Given the description of an element on the screen output the (x, y) to click on. 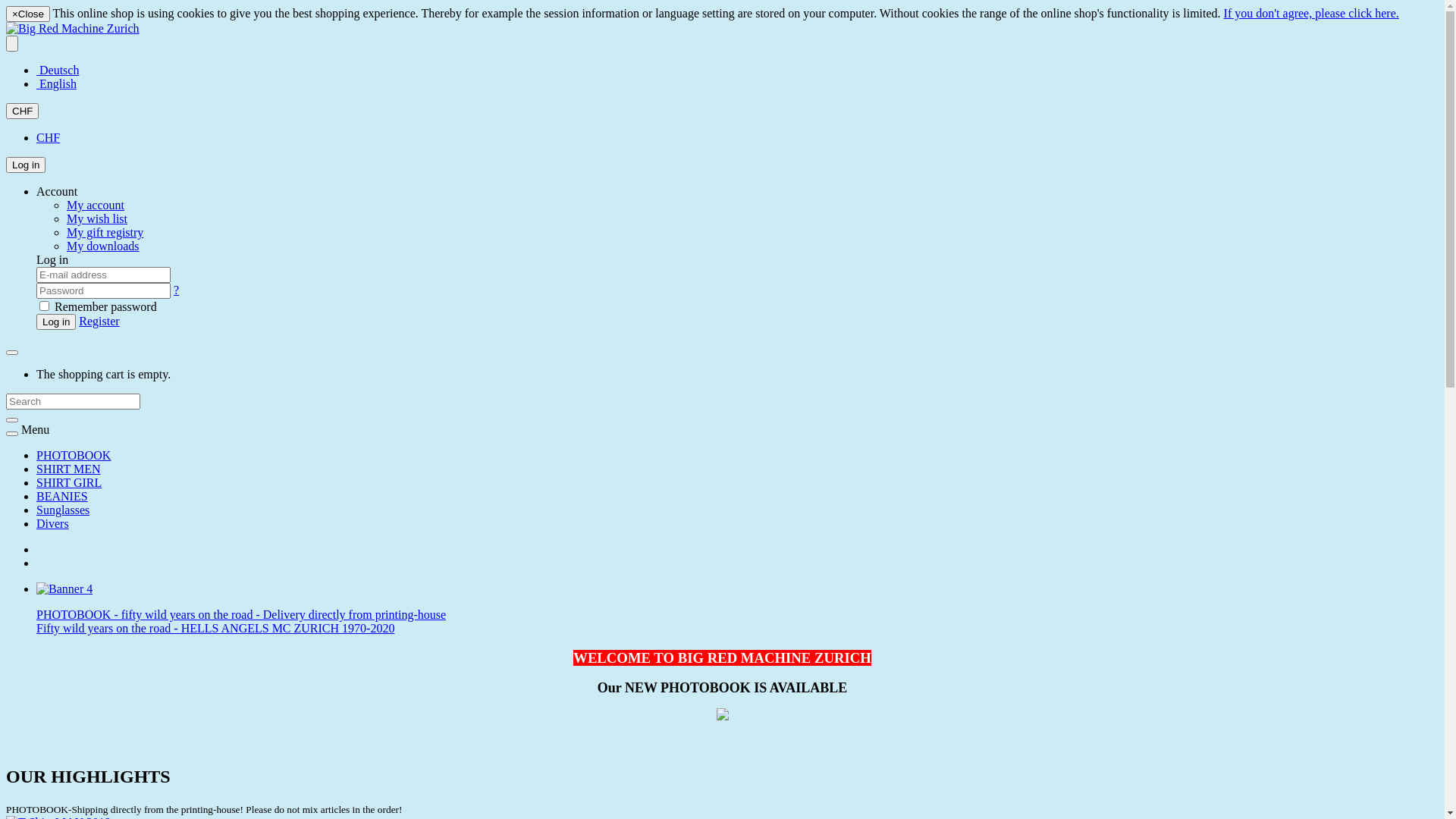
Banner 4 Element type: hover (64, 588)
Deutsch Element type: text (57, 69)
? Element type: text (175, 289)
Sunglasses Element type: text (62, 509)
My downloads Element type: text (102, 245)
Log in Element type: text (55, 321)
My gift registry Element type: text (104, 231)
Register Element type: text (98, 320)
PHOTOBOOK Element type: text (73, 454)
CHF Element type: text (22, 111)
My account Element type: text (95, 204)
Search Element type: hover (12, 419)
English Element type: text (56, 83)
SHIRT GIRL Element type: text (68, 482)
My wish list Element type: text (96, 218)
CHF Element type: text (47, 137)
Big Red Machine Zurich Element type: hover (72, 27)
SHIRT MEN Element type: text (68, 468)
BEANIES Element type: text (61, 495)
Log in Element type: text (25, 164)
If you don't agree, please click here. Element type: text (1311, 12)
Divers Element type: text (52, 523)
Banner 4 Element type: hover (64, 589)
